Given the description of an element on the screen output the (x, y) to click on. 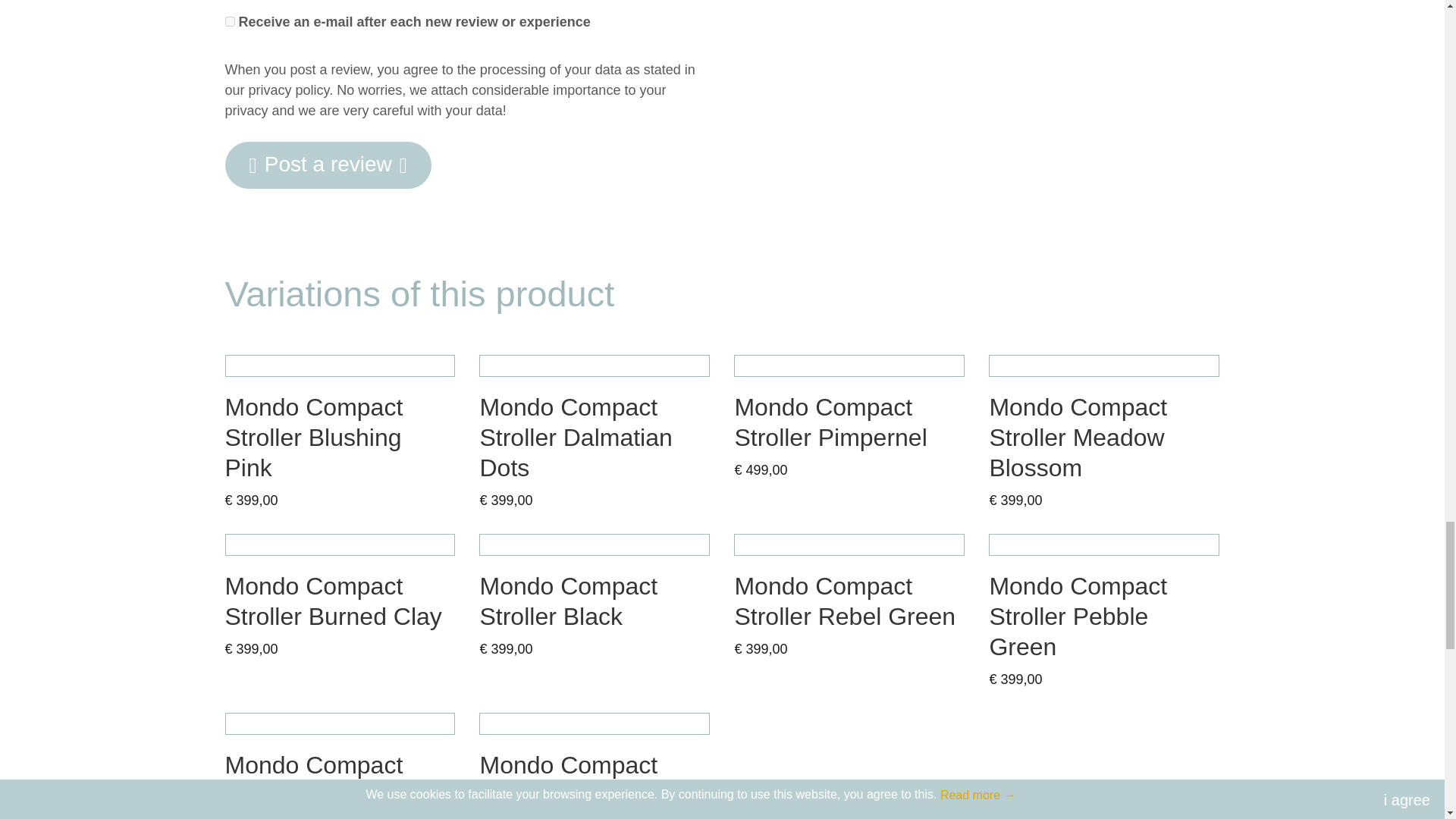
1 (229, 21)
Mondo Compact Stroller Blushing Pink (339, 365)
Mondo Compact Stroller Black (594, 544)
Mondo Compact Stroller Pebble Green (1104, 544)
Mondo Compact Stroller Moonshell 2023 (594, 723)
Mondo Compact Stroller Autumn Rose (339, 723)
Mondo Compact Stroller Meadow Blossom (1104, 365)
Mondo Compact Stroller Rebel Green (848, 544)
Mondo Compact Stroller Dalmatian Dots (594, 365)
Mondo Compact Stroller Pimpernel (848, 365)
Mondo Compact Stroller Burned Clay (339, 544)
